Given the description of an element on the screen output the (x, y) to click on. 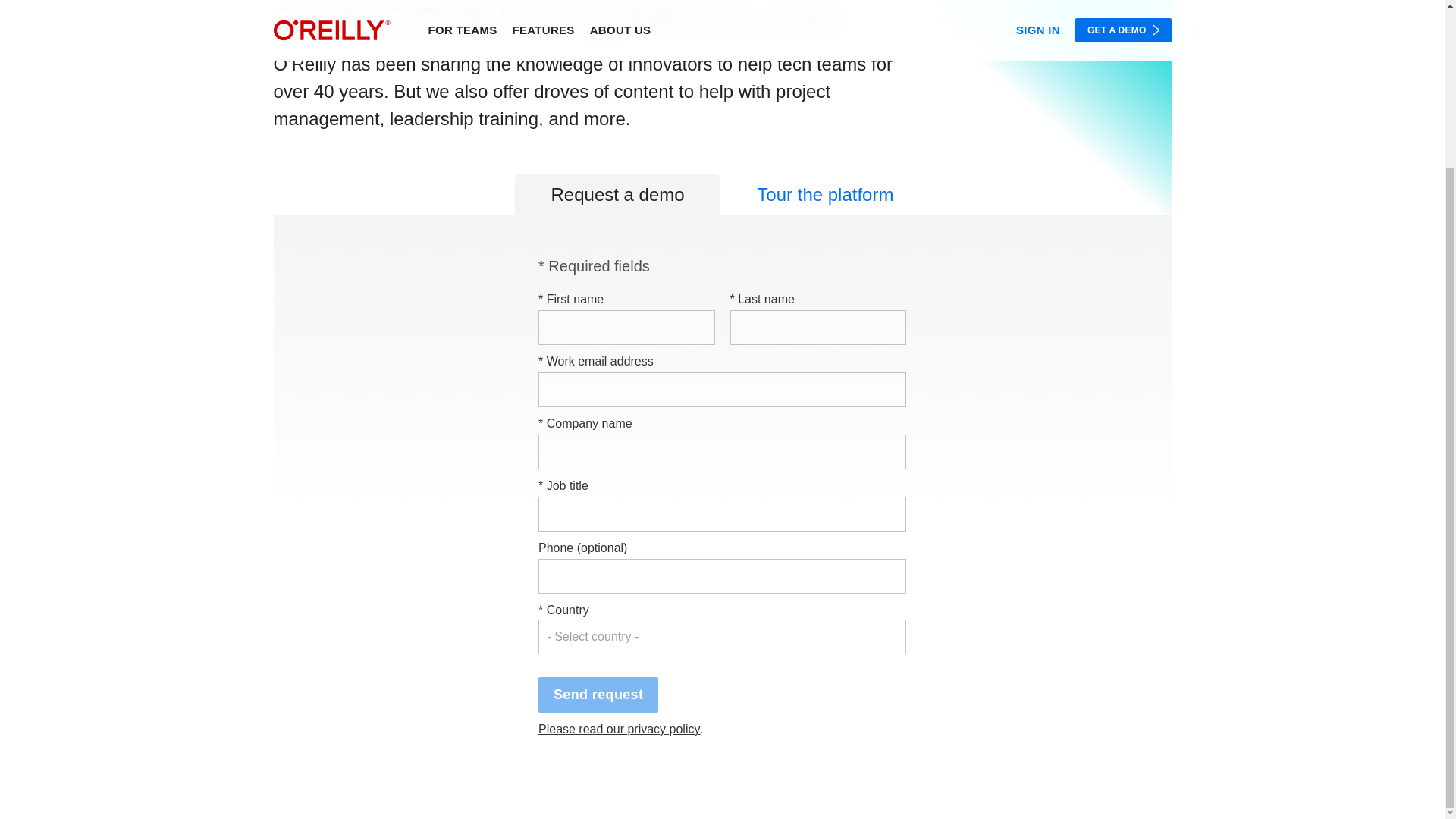
Send request (598, 694)
Tour the platform (825, 193)
Request a demo (617, 193)
Please read our privacy policy (619, 728)
